Given the description of an element on the screen output the (x, y) to click on. 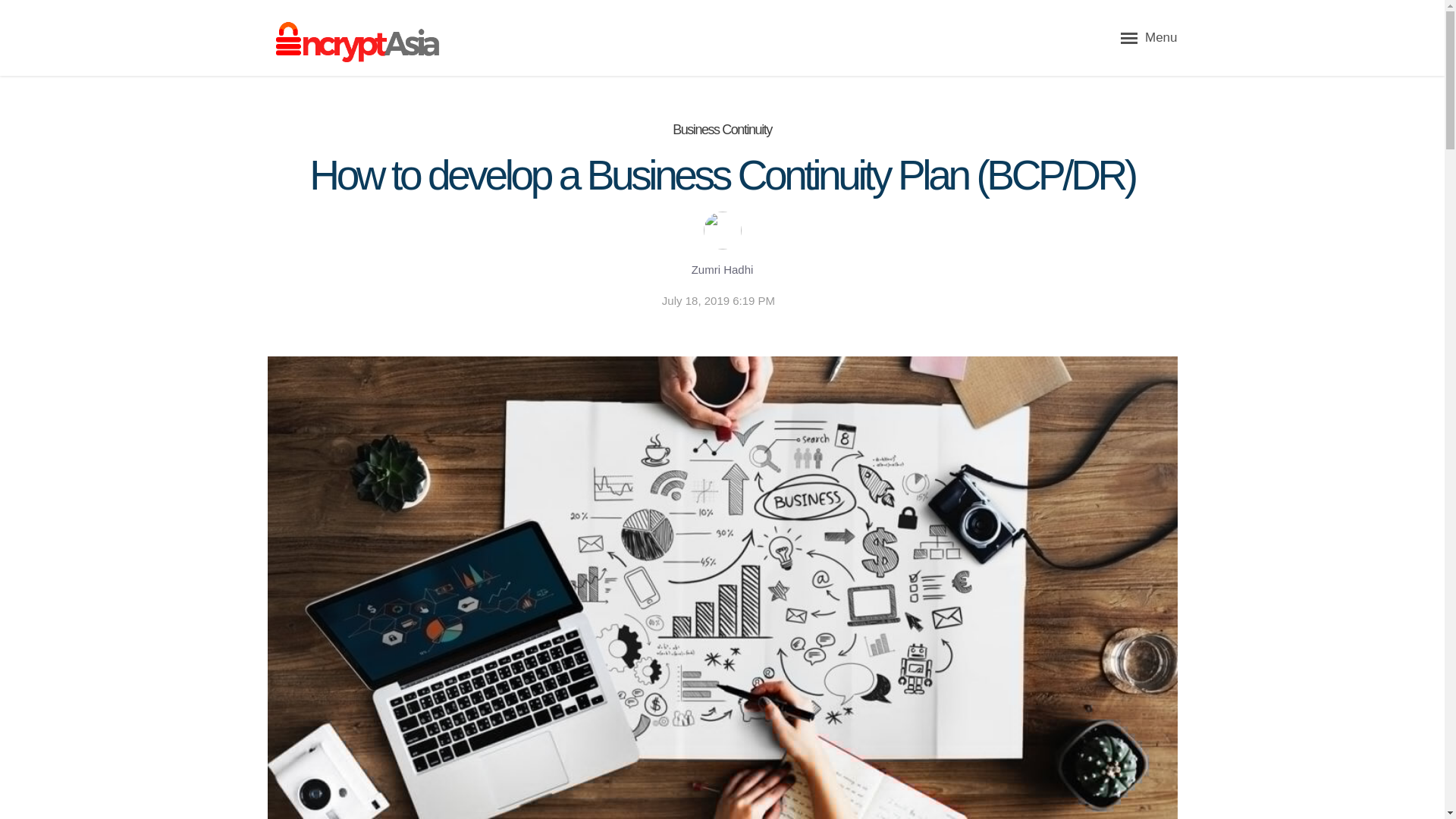
Business Continuity (721, 129)
View all posts by Zumri Hadhi (721, 270)
Zumri Hadhi (721, 270)
